Given the description of an element on the screen output the (x, y) to click on. 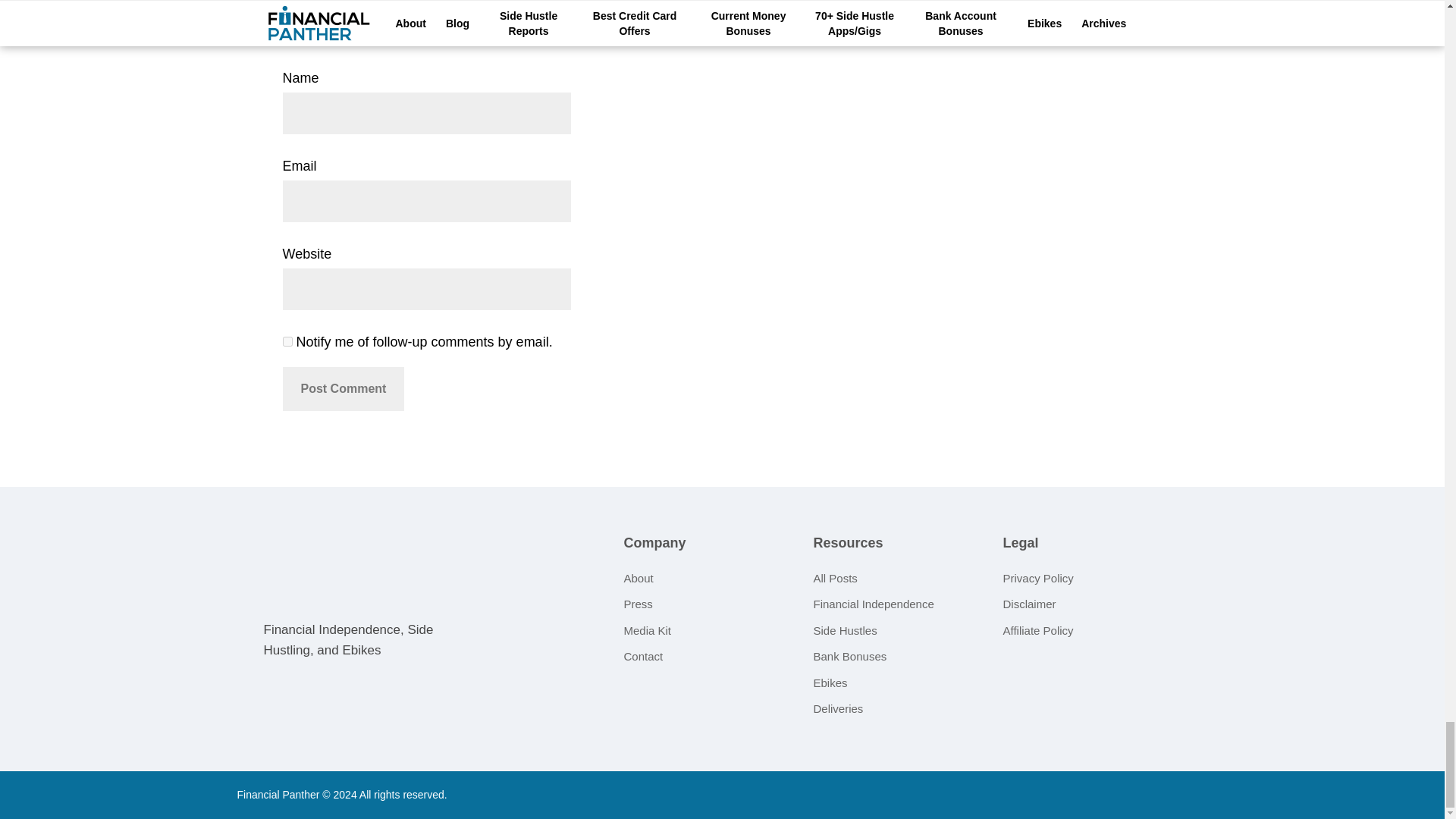
Post Comment (343, 388)
subscribe (287, 341)
